Given the description of an element on the screen output the (x, y) to click on. 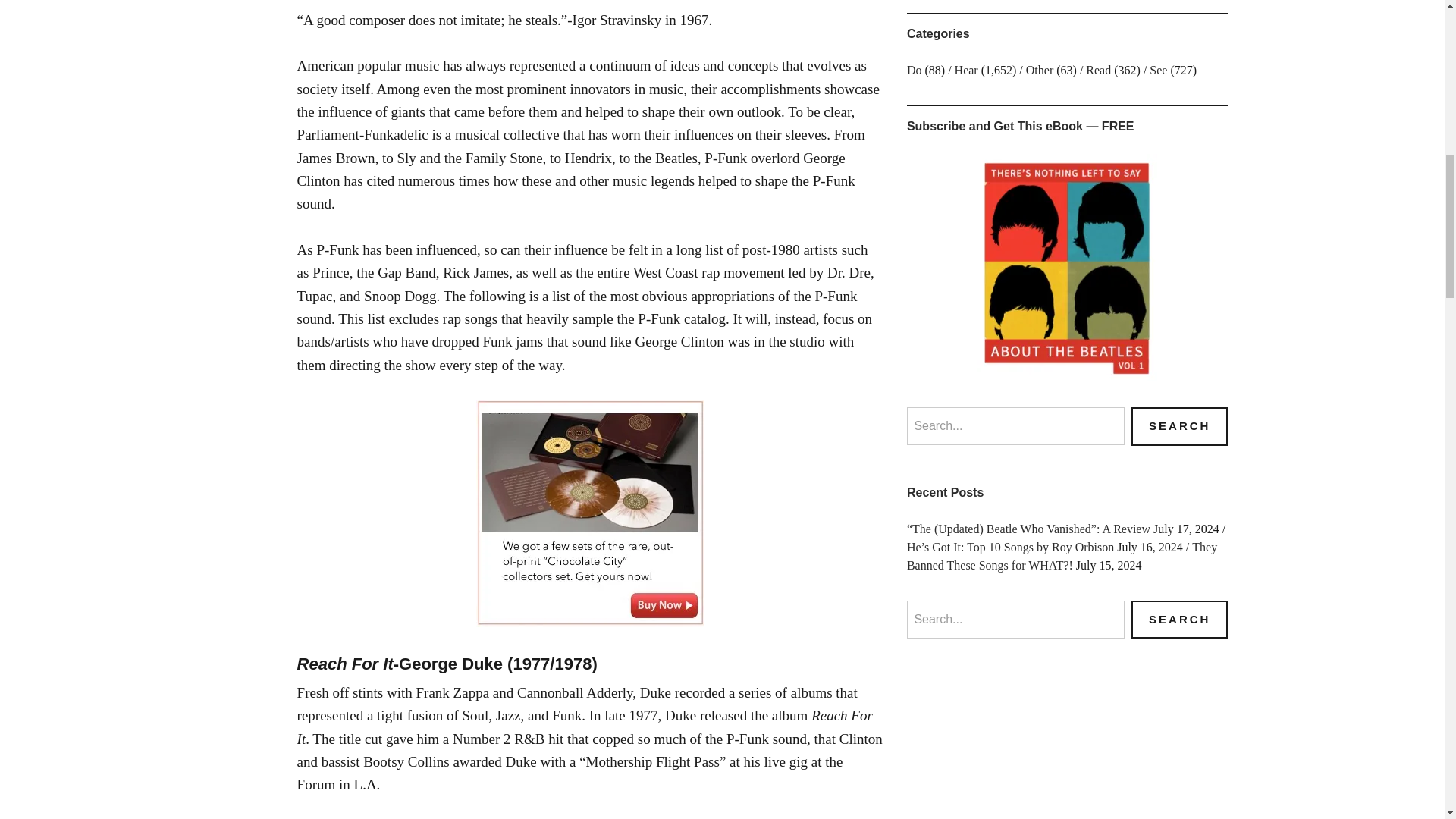
Search (1179, 619)
Search (1179, 426)
